Given the description of an element on the screen output the (x, y) to click on. 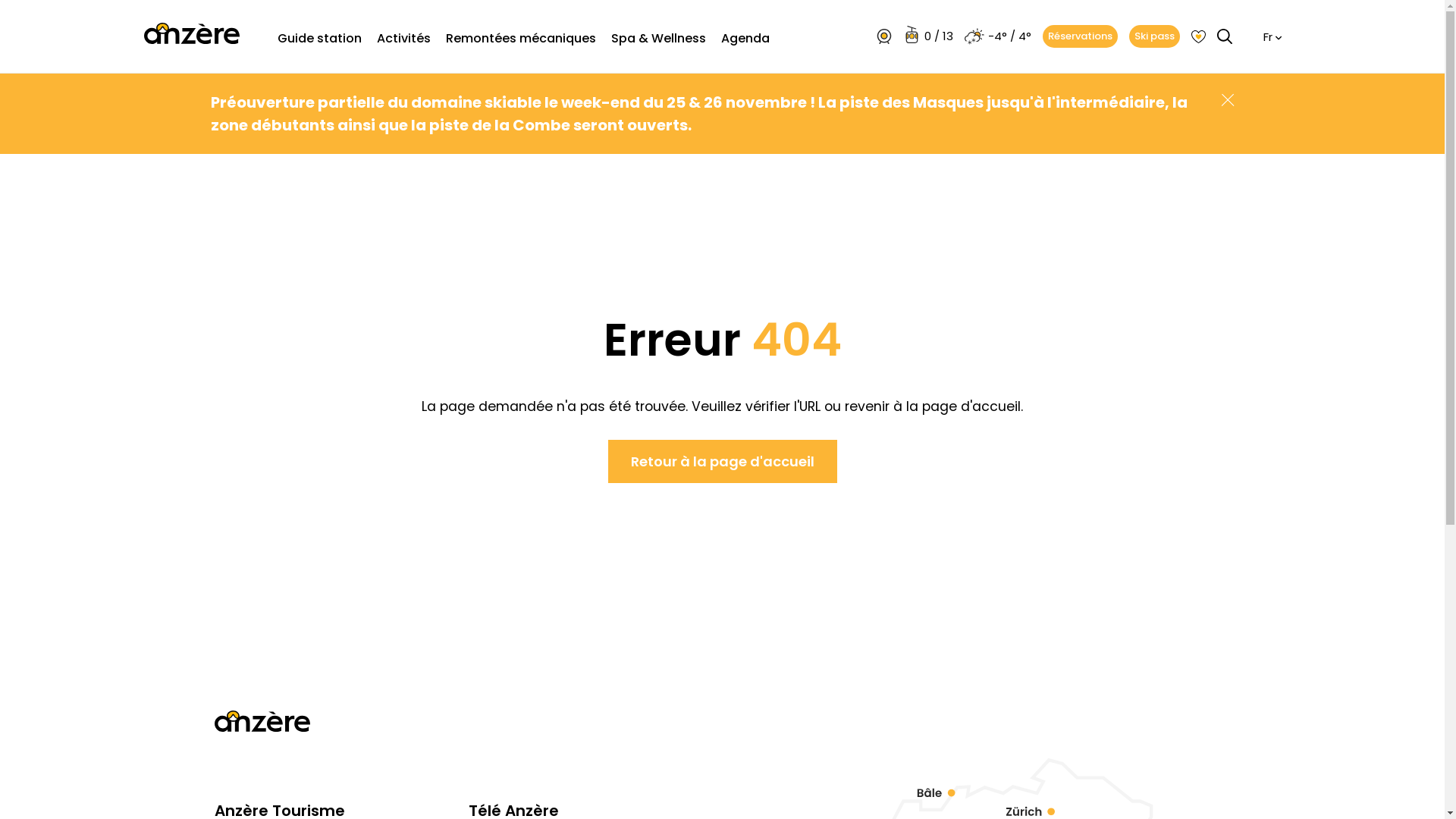
0 / 13 Element type: text (928, 36)
Fr Element type: text (1271, 37)
Spa & Wellness Element type: text (658, 38)
Guide station Element type: text (319, 38)
Agenda Element type: text (745, 50)
Ski pass Element type: text (1154, 36)
